Given the description of an element on the screen output the (x, y) to click on. 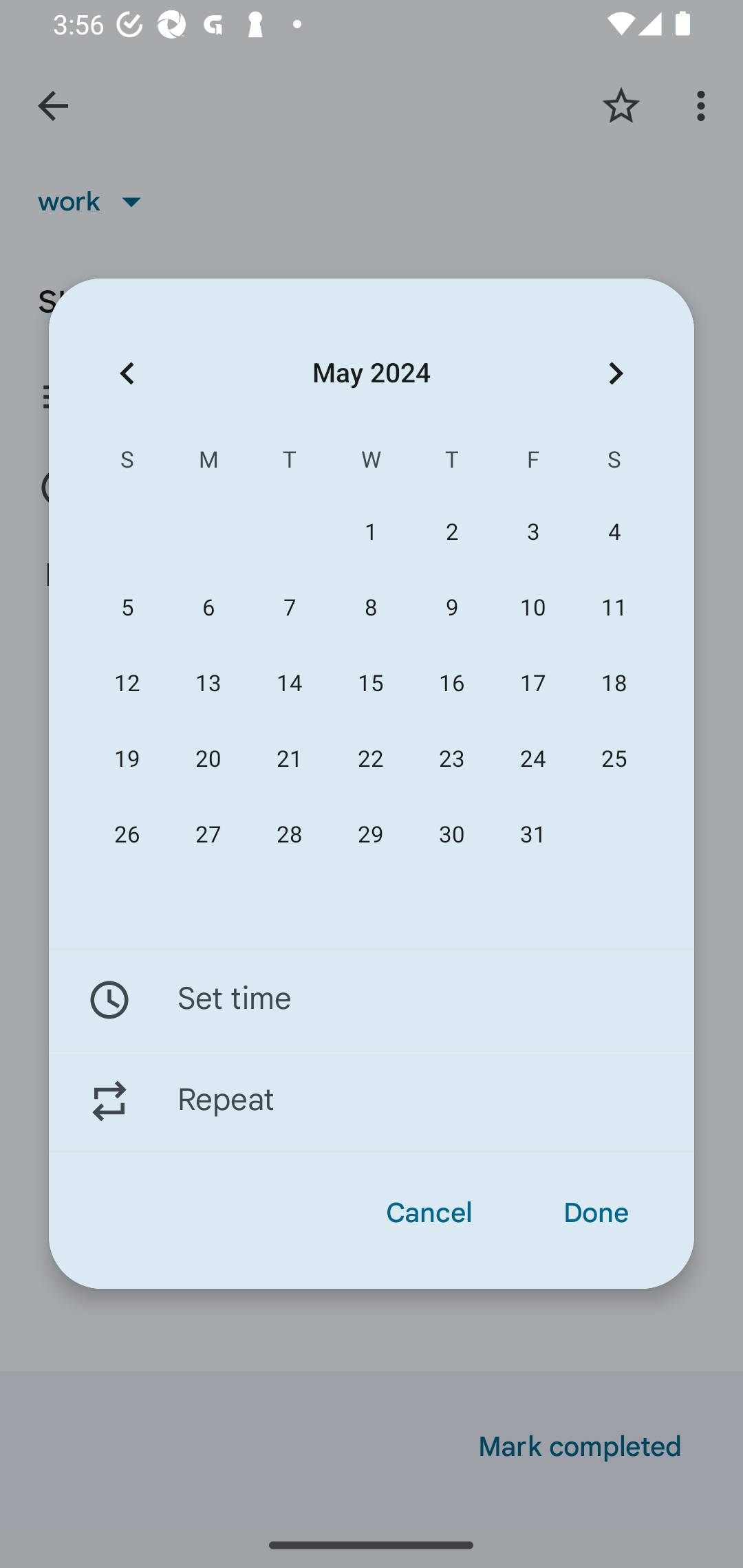
Previous month (126, 372)
Next month (615, 372)
1 01 May 2024 (370, 531)
2 02 May 2024 (451, 531)
3 03 May 2024 (532, 531)
4 04 May 2024 (613, 531)
5 05 May 2024 (126, 608)
6 06 May 2024 (207, 608)
7 07 May 2024 (288, 608)
8 08 May 2024 (370, 608)
9 09 May 2024 (451, 608)
10 10 May 2024 (532, 608)
11 11 May 2024 (613, 608)
12 12 May 2024 (126, 683)
13 13 May 2024 (207, 683)
14 14 May 2024 (288, 683)
15 15 May 2024 (370, 683)
16 16 May 2024 (451, 683)
17 17 May 2024 (532, 683)
18 18 May 2024 (613, 683)
19 19 May 2024 (126, 758)
20 20 May 2024 (207, 758)
21 21 May 2024 (288, 758)
22 22 May 2024 (370, 758)
23 23 May 2024 (451, 758)
24 24 May 2024 (532, 758)
25 25 May 2024 (613, 758)
26 26 May 2024 (126, 834)
27 27 May 2024 (207, 834)
28 28 May 2024 (288, 834)
29 29 May 2024 (370, 834)
30 30 May 2024 (451, 834)
31 31 May 2024 (532, 834)
Set time (371, 999)
Repeat (371, 1101)
Cancel (429, 1213)
Done (595, 1213)
